Given the description of an element on the screen output the (x, y) to click on. 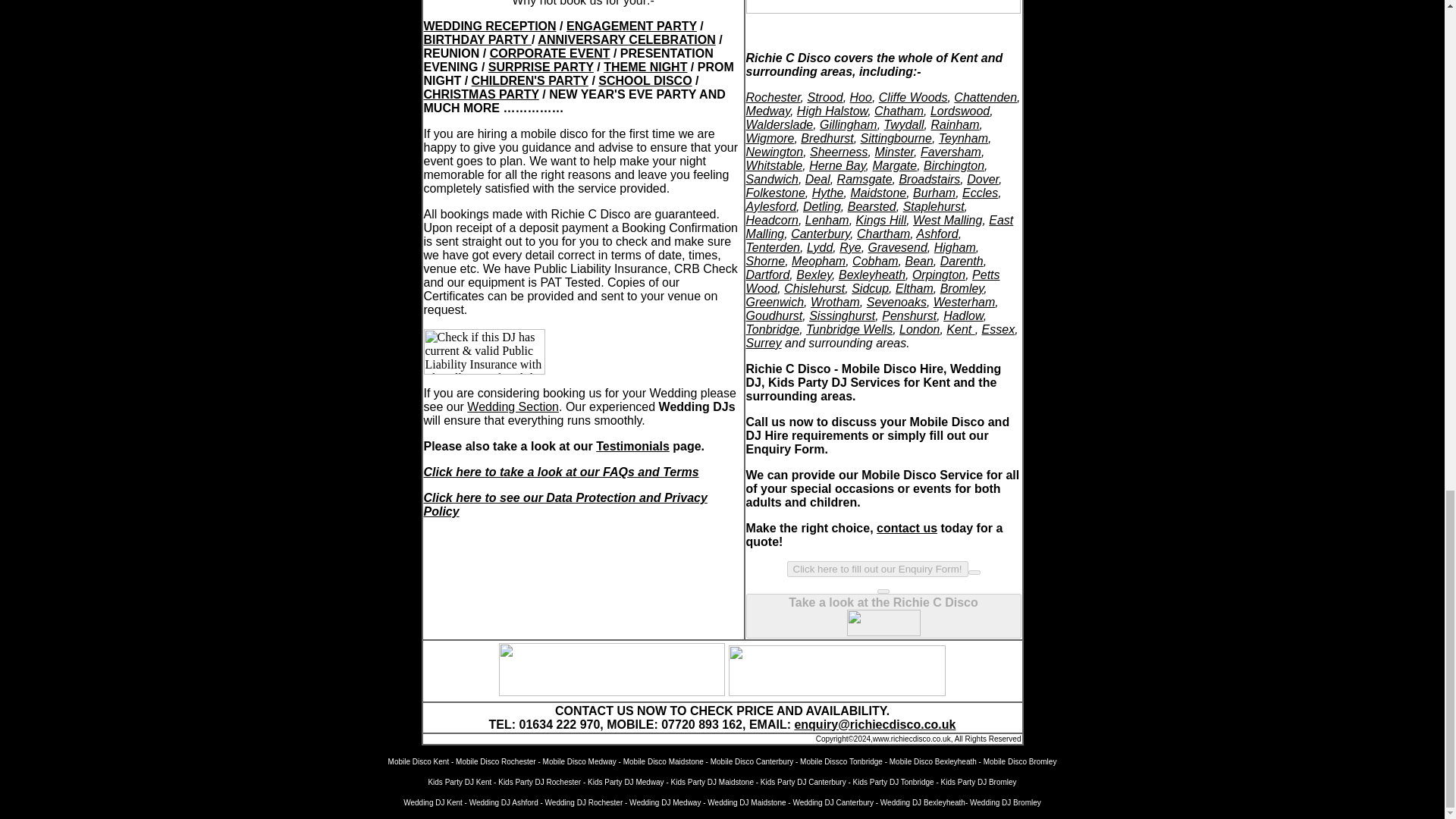
Cliffe Woods (913, 97)
SCHOOL DISCO (644, 80)
Chattenden (984, 97)
CORPORATE EVENT (549, 52)
SURPRISE PARTY (540, 66)
Rochester (772, 97)
Click here to take a look at our FAQs and Terms (560, 472)
Medway (767, 110)
BIRTHDAY PARTY (477, 39)
Chatham (899, 110)
Lordswood (960, 110)
Wedding Section (513, 406)
Hoo (861, 97)
Strood (824, 97)
ANNIVERSARY CELEBRATION (625, 39)
